Given the description of an element on the screen output the (x, y) to click on. 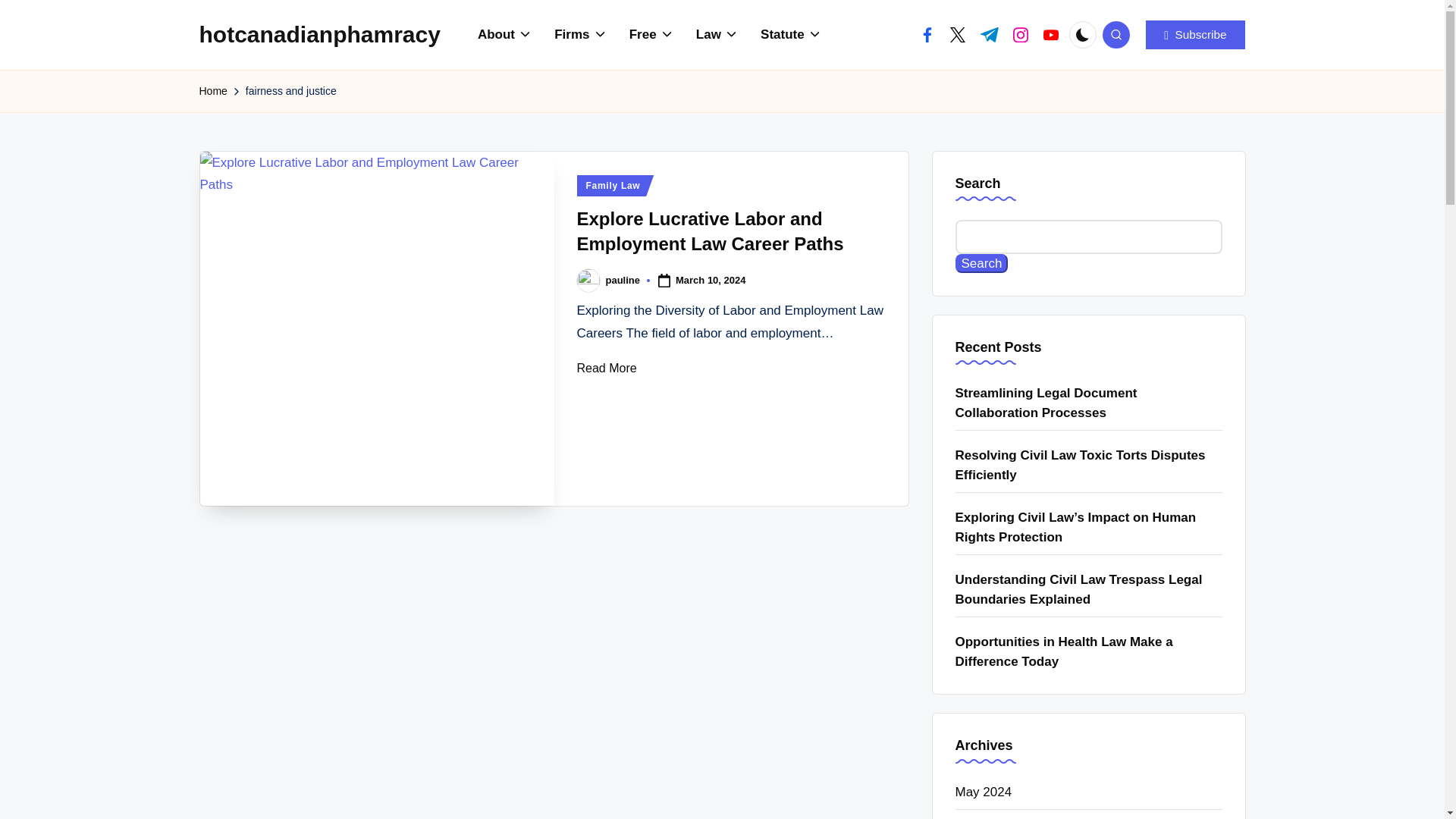
hotcanadianphamracy (318, 34)
About (505, 34)
Explore Lucrative Labor and Employment Law Career Paths (377, 328)
View all posts by pauline (622, 279)
Explore Lucrative Labor and Employment Law Career Paths (709, 231)
